Given the description of an element on the screen output the (x, y) to click on. 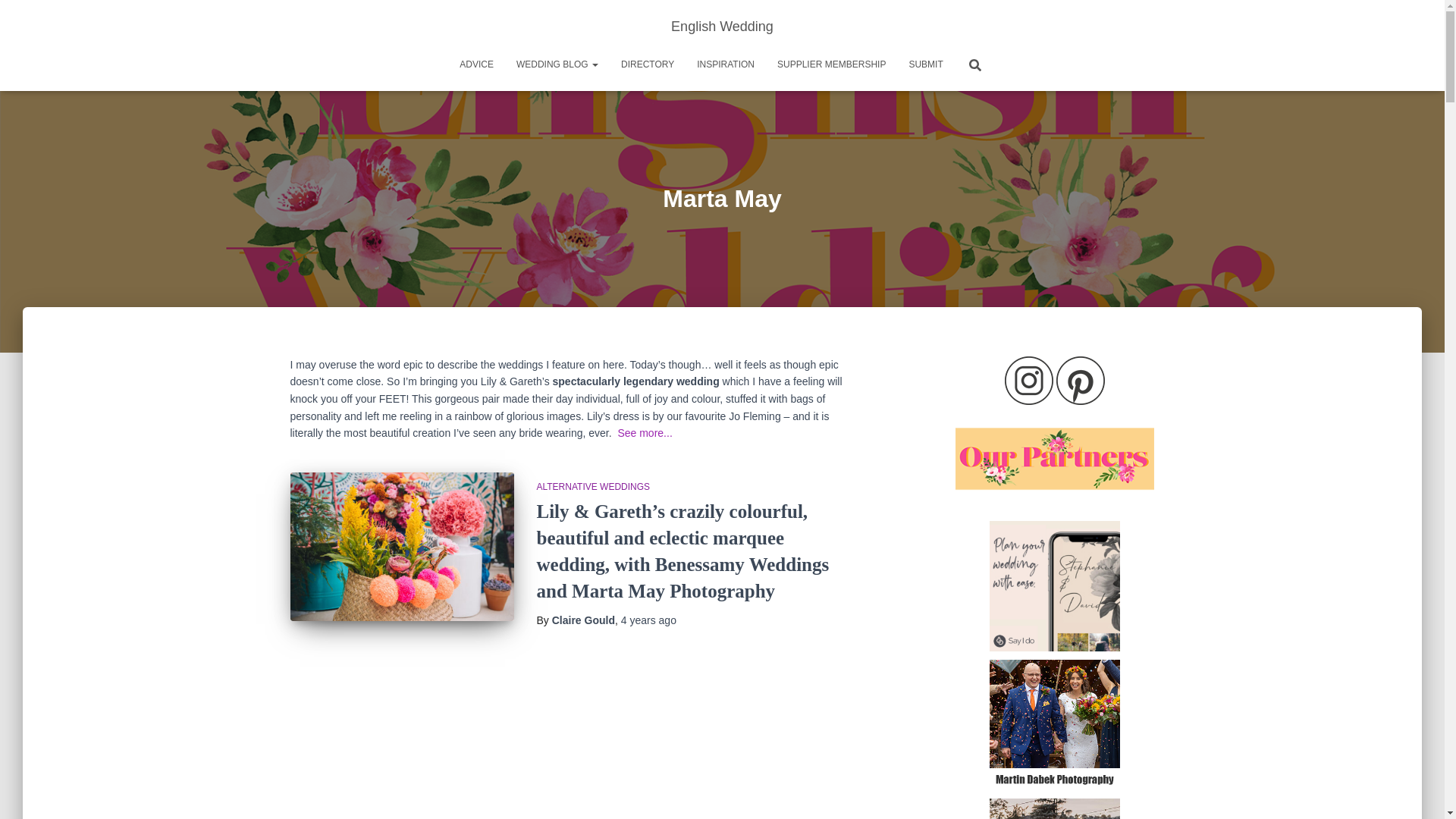
DIRECTORY (647, 64)
Advice (476, 64)
See more... (644, 432)
4 years ago (649, 620)
English Wedding (721, 26)
Claire Gould (582, 620)
English Wedding (721, 26)
INSPIRATION (725, 64)
SUBMIT (924, 64)
ADVICE (476, 64)
